Given the description of an element on the screen output the (x, y) to click on. 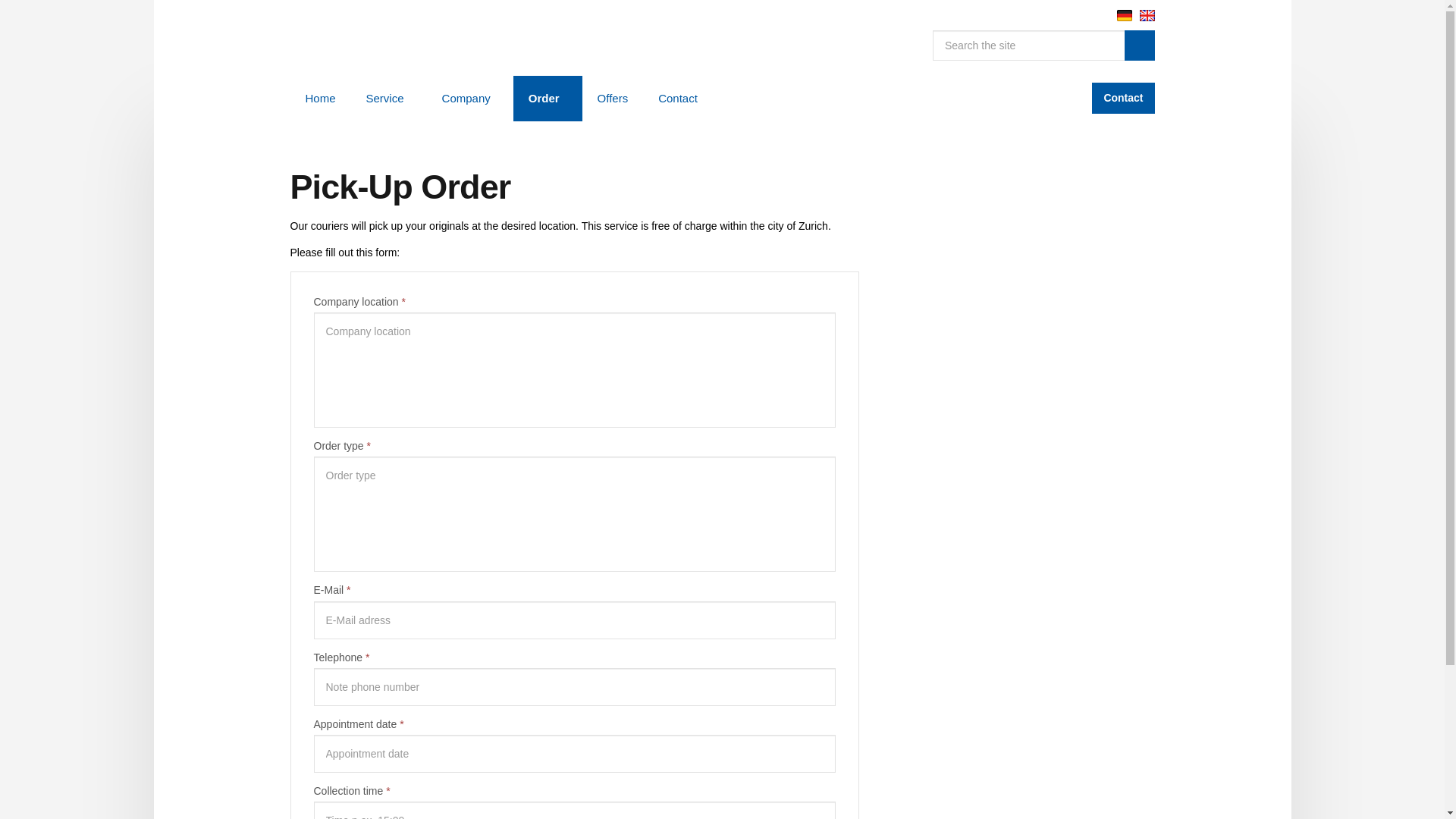
Home (319, 98)
Service (388, 98)
Order (547, 98)
Offers (612, 98)
Company (469, 98)
Contact (678, 98)
Contact (1123, 97)
Skip to the content (721, 12)
Sautercopy AG (389, 37)
